Given the description of an element on the screen output the (x, y) to click on. 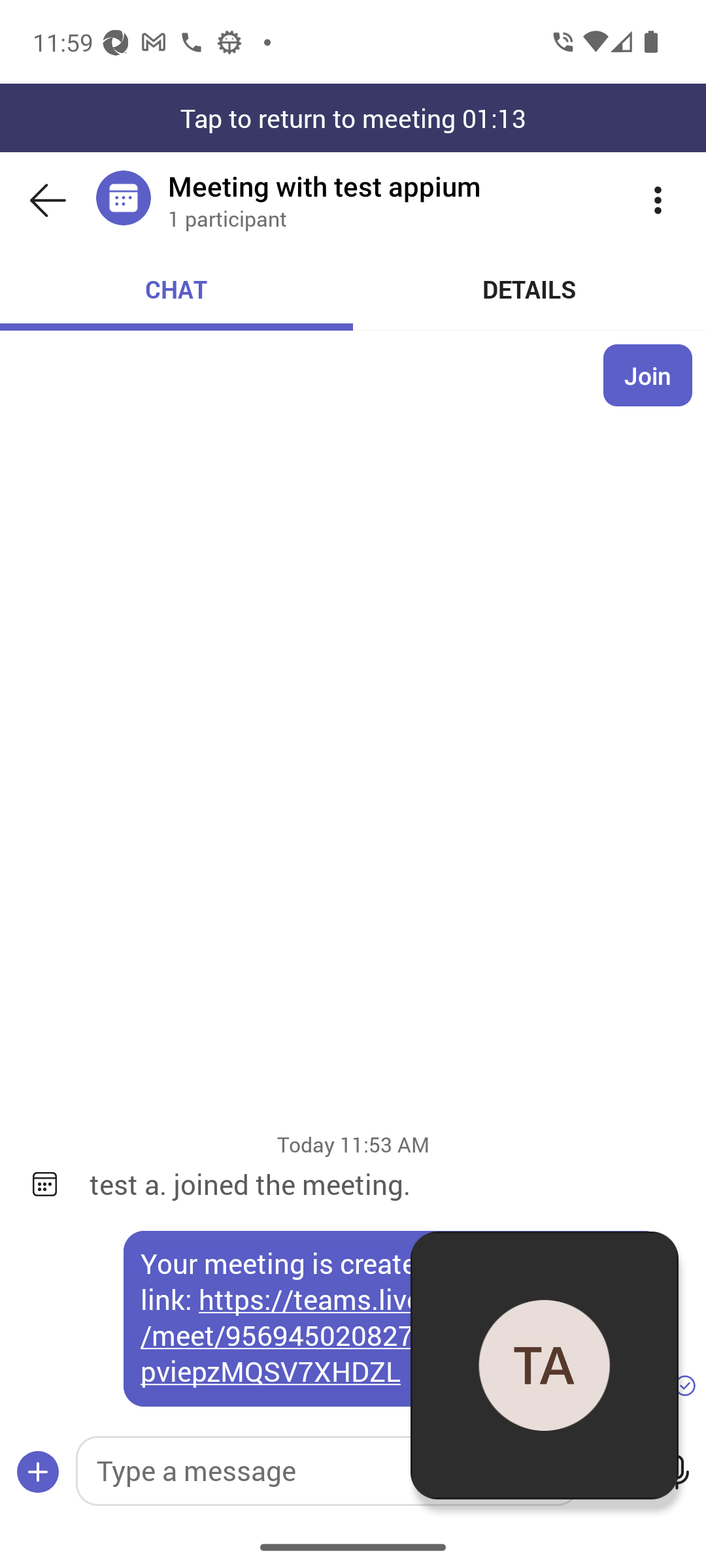
Tap to return to meeting 01:13 (353, 117)
Back (48, 199)
More options (657, 199)
Details DETAILS (529, 288)
Join (647, 375)
test a. joined the meeting. (383, 1183)
Compose options, collapsed (37, 1471)
Type a message (326, 1470)
